Given the description of an element on the screen output the (x, y) to click on. 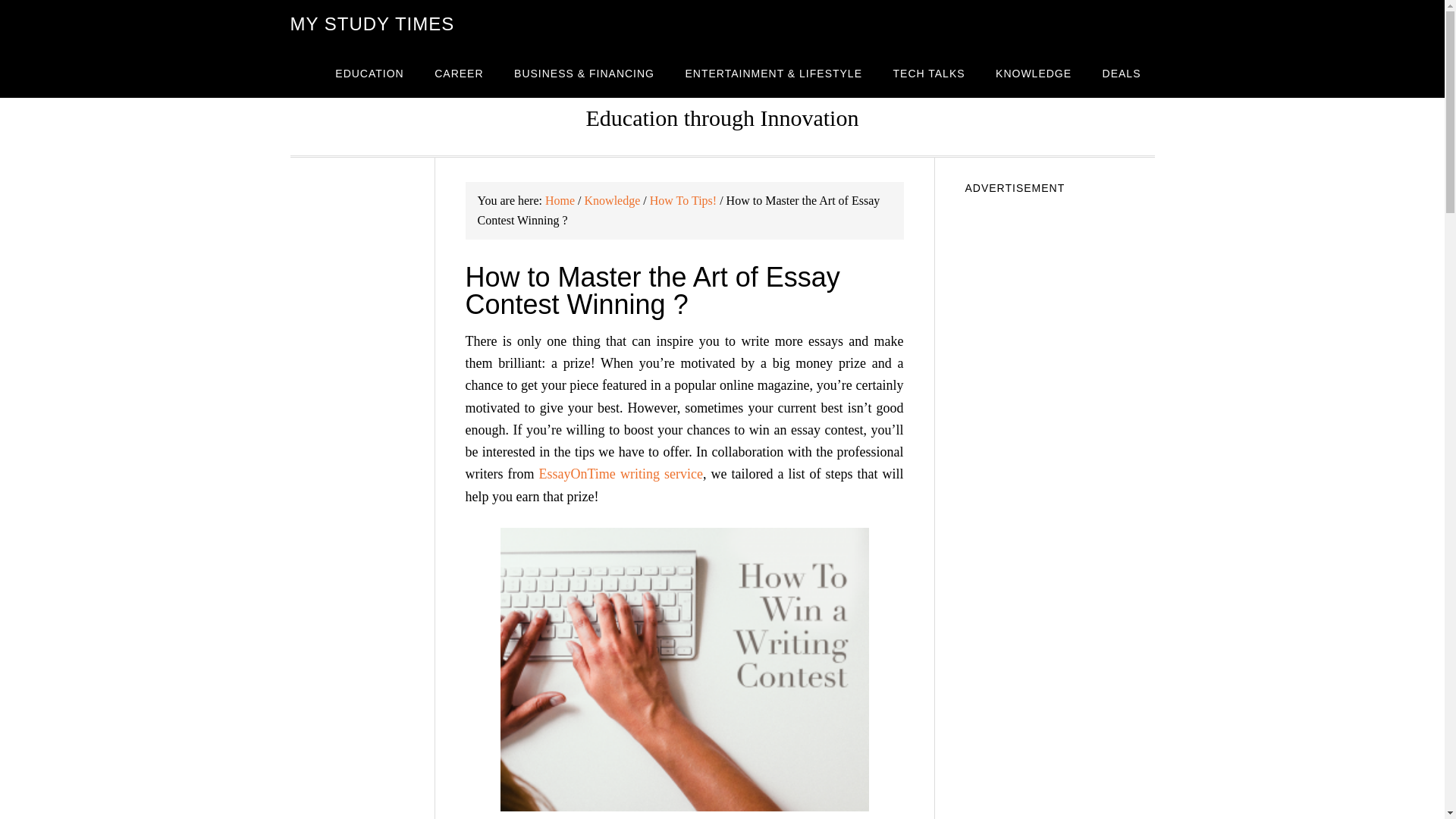
KNOWLEDGE (1032, 72)
Home (559, 200)
How to Master the Art of Essay Contest Winning ? 1 (684, 669)
EDUCATION (368, 72)
Advertisement (1058, 758)
CAREER (458, 72)
DEALS (1121, 72)
TECH TALKS (928, 72)
MY STUDY TIMES (371, 23)
